Given the description of an element on the screen output the (x, y) to click on. 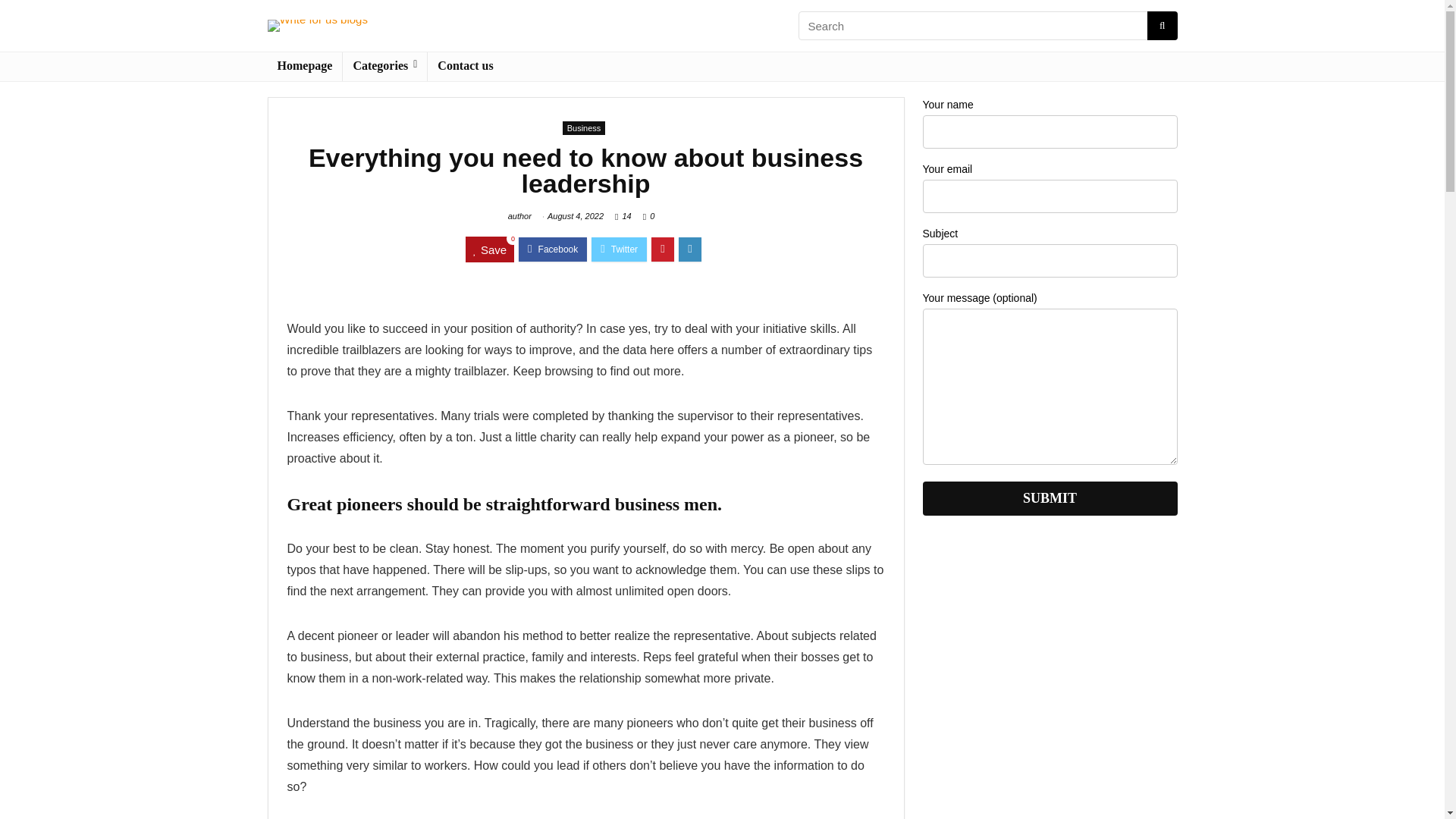
Submit (1048, 498)
Contact us (465, 66)
Advertisement (1048, 683)
Categories (384, 66)
Homepage (304, 66)
